Given the description of an element on the screen output the (x, y) to click on. 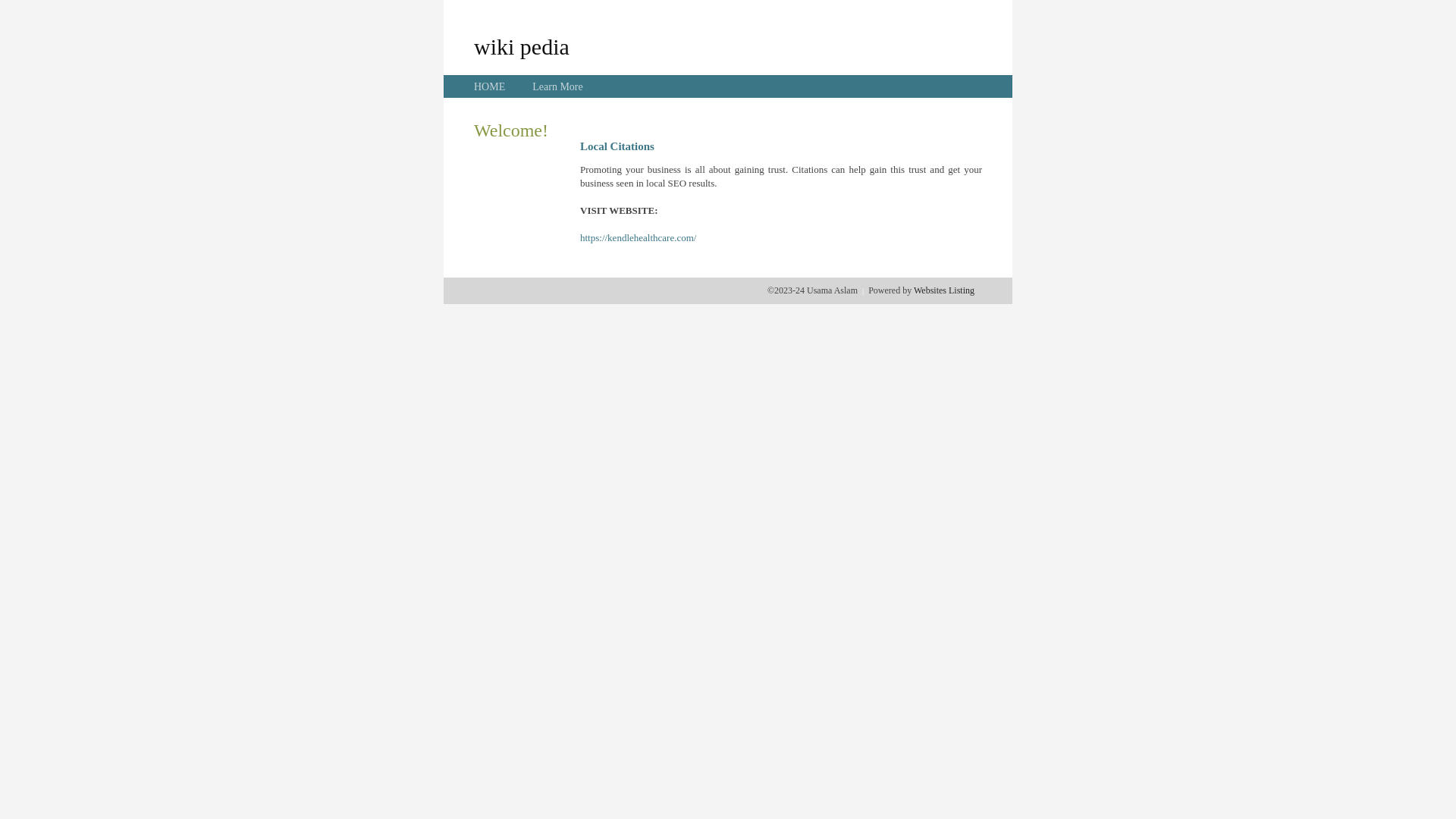
Websites Listing Element type: text (943, 290)
Learn More Element type: text (557, 86)
wiki pedia Element type: text (521, 46)
https://kendlehealthcare.com/ Element type: text (638, 237)
HOME Element type: text (489, 86)
